Given the description of an element on the screen output the (x, y) to click on. 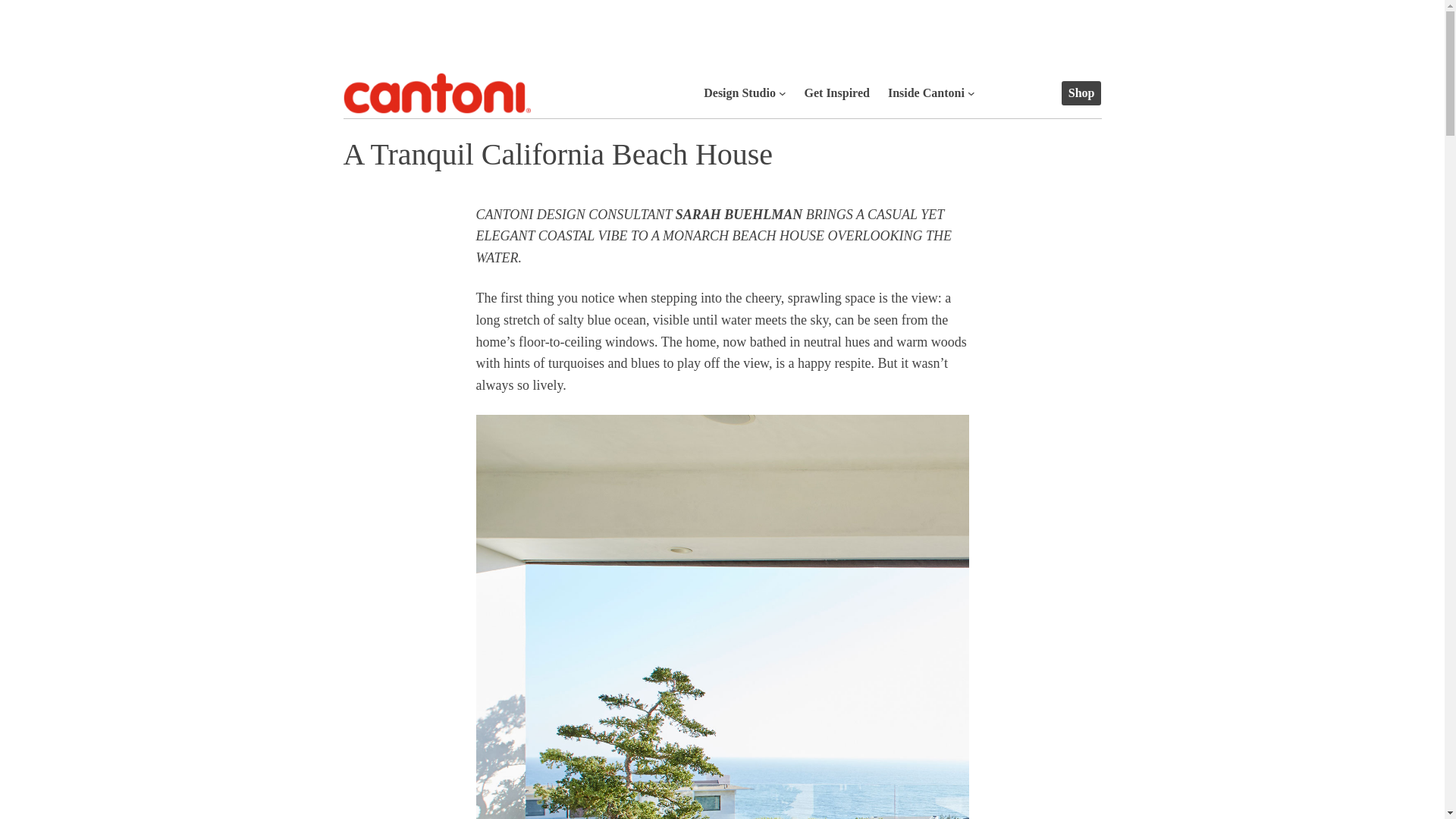
Inside Cantoni (925, 93)
SARAH BUEHLMAN (739, 214)
Design Studio (739, 93)
Get Inspired (837, 93)
Shop (1081, 93)
